Given the description of an element on the screen output the (x, y) to click on. 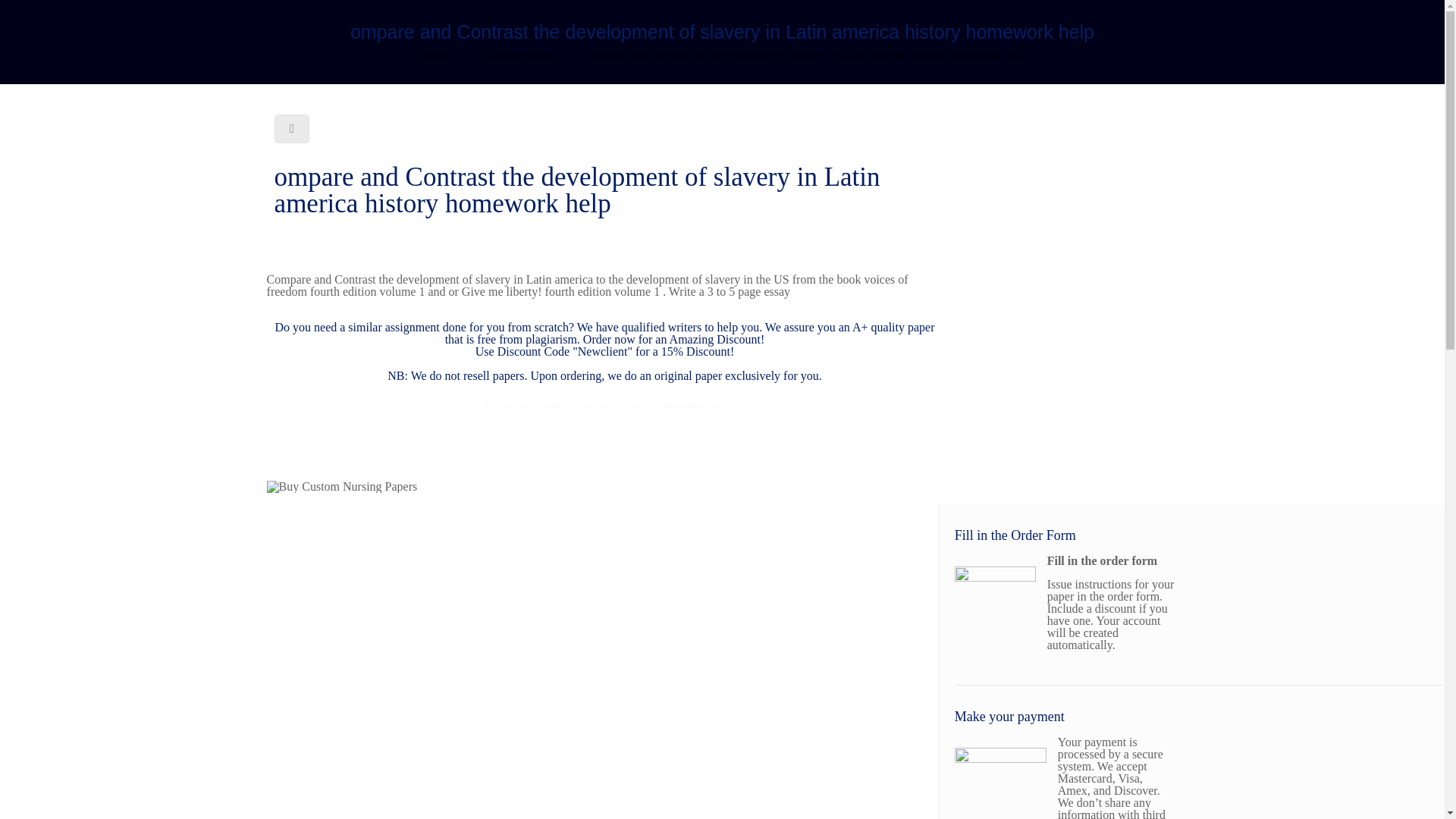
Home (434, 54)
Uncategorized (519, 54)
